Given the description of an element on the screen output the (x, y) to click on. 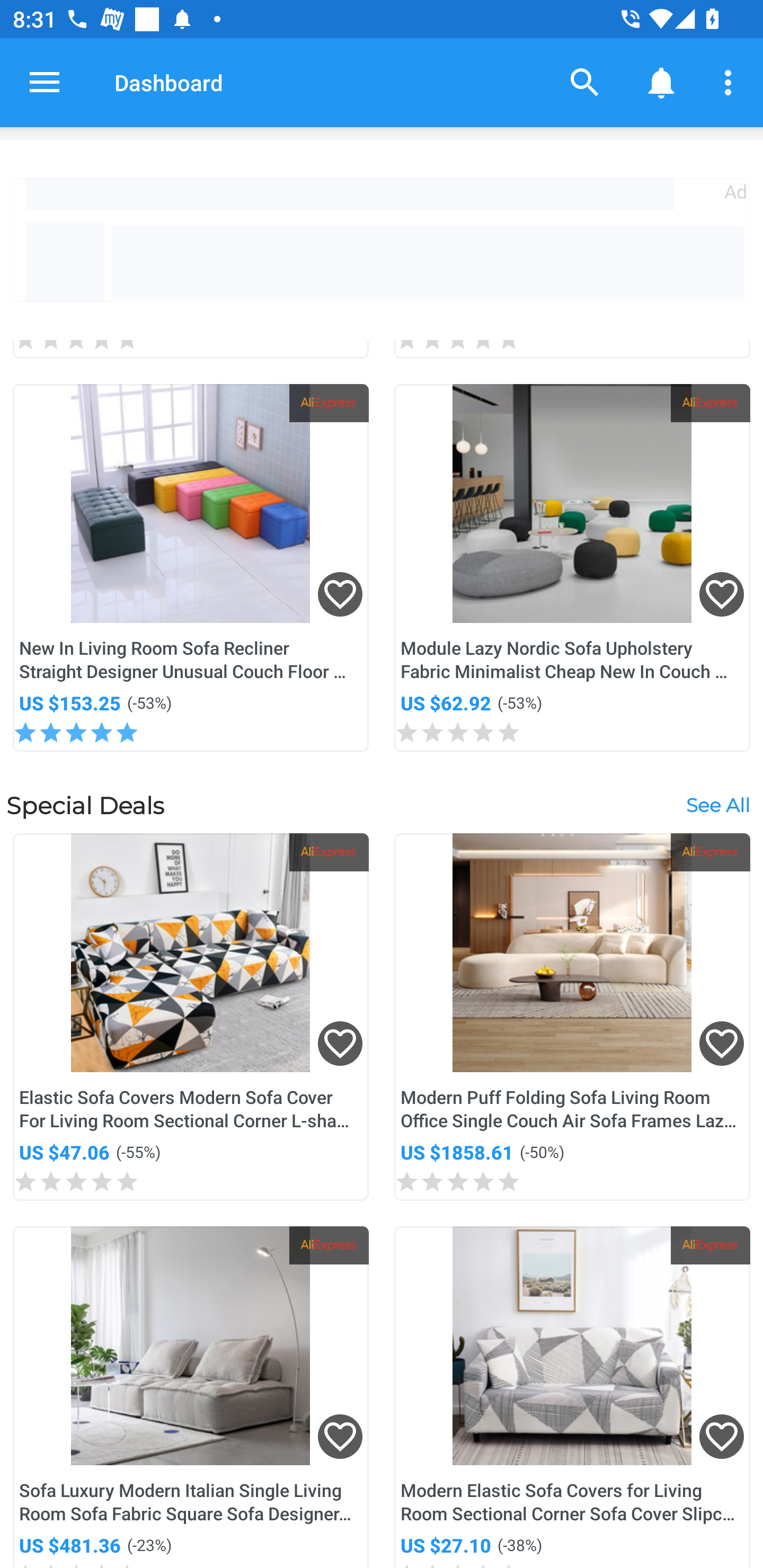
Open navigation drawer (44, 82)
Search (585, 81)
More options (731, 81)
See All (717, 803)
